Given the description of an element on the screen output the (x, y) to click on. 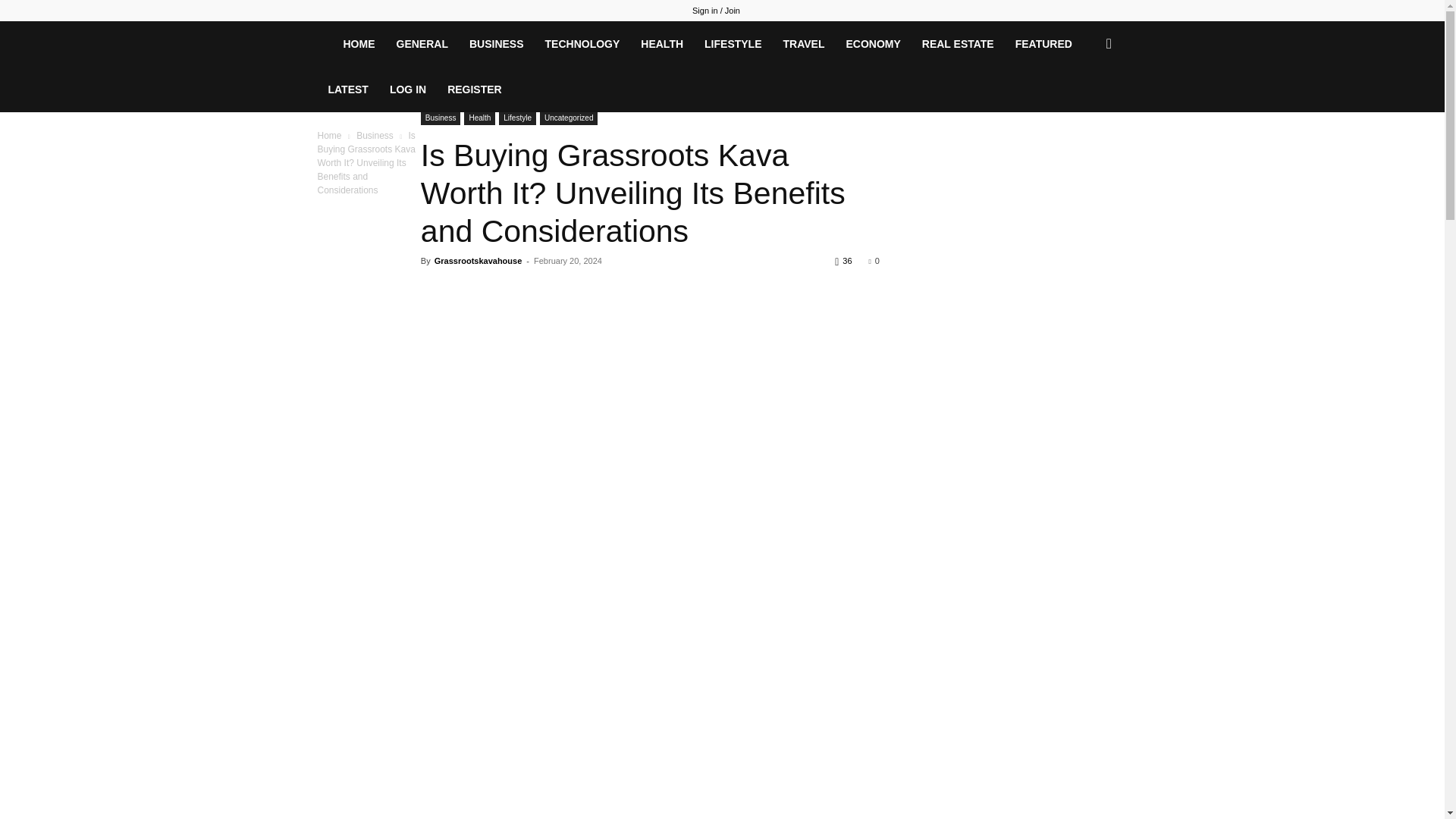
LATEST (347, 89)
LIFESTYLE (732, 43)
FEATURED (1043, 43)
ECONOMY (872, 43)
HEALTH (662, 43)
Search (1085, 109)
Daily Business Post (324, 43)
View all posts in Business (374, 135)
HOME (358, 43)
REGISTER (474, 89)
BUSINESS (496, 43)
GENERAL (421, 43)
REAL ESTATE (957, 43)
TECHNOLOGY (582, 43)
LOG IN (407, 89)
